Given the description of an element on the screen output the (x, y) to click on. 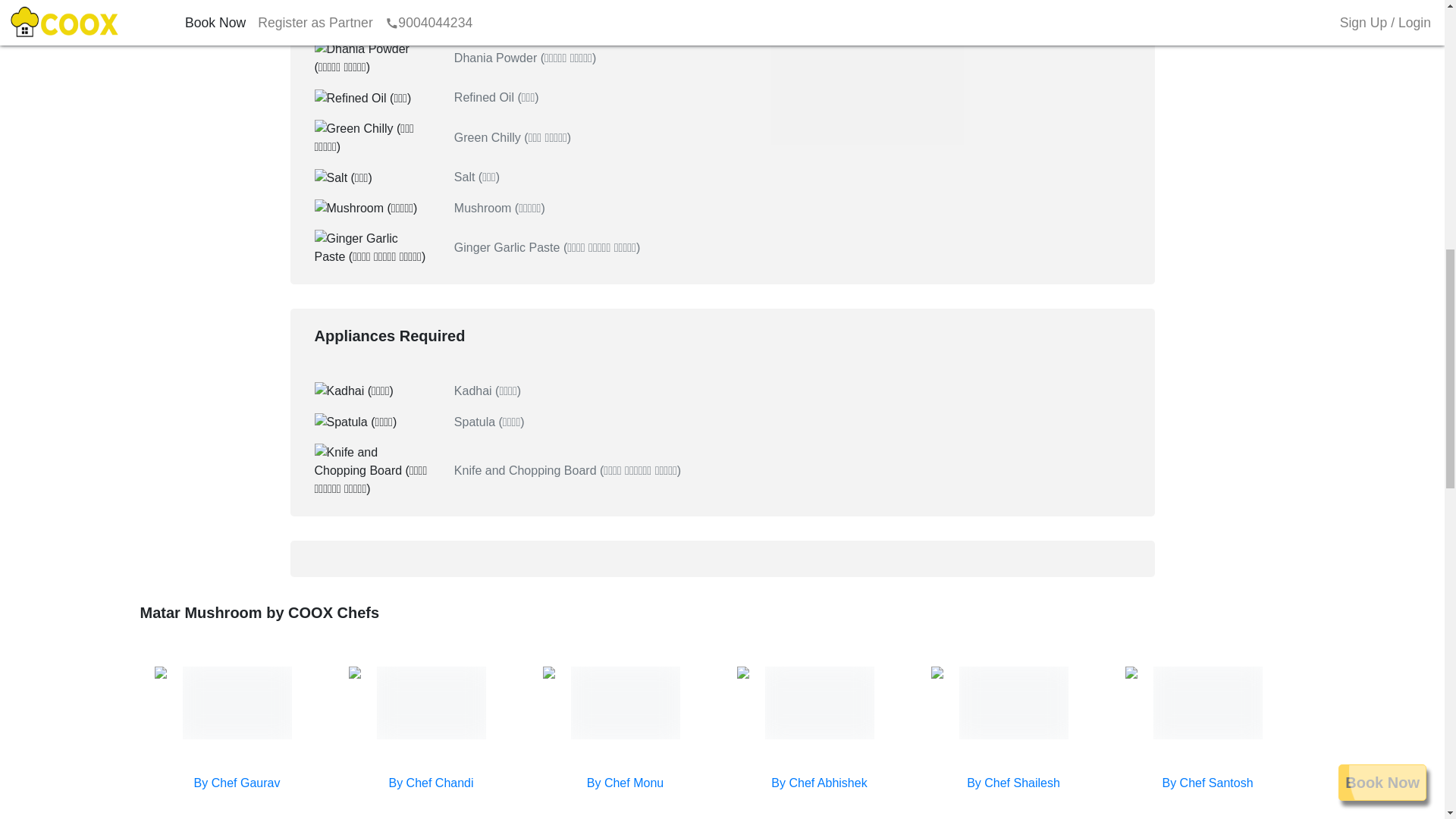
By Chef Shailesh (1012, 782)
By Chef Gaurav (237, 782)
By Chef Monu (624, 782)
By Chef Abhishek (818, 782)
By Chef Santosh (1206, 782)
By Chef Chandi (430, 782)
